Given the description of an element on the screen output the (x, y) to click on. 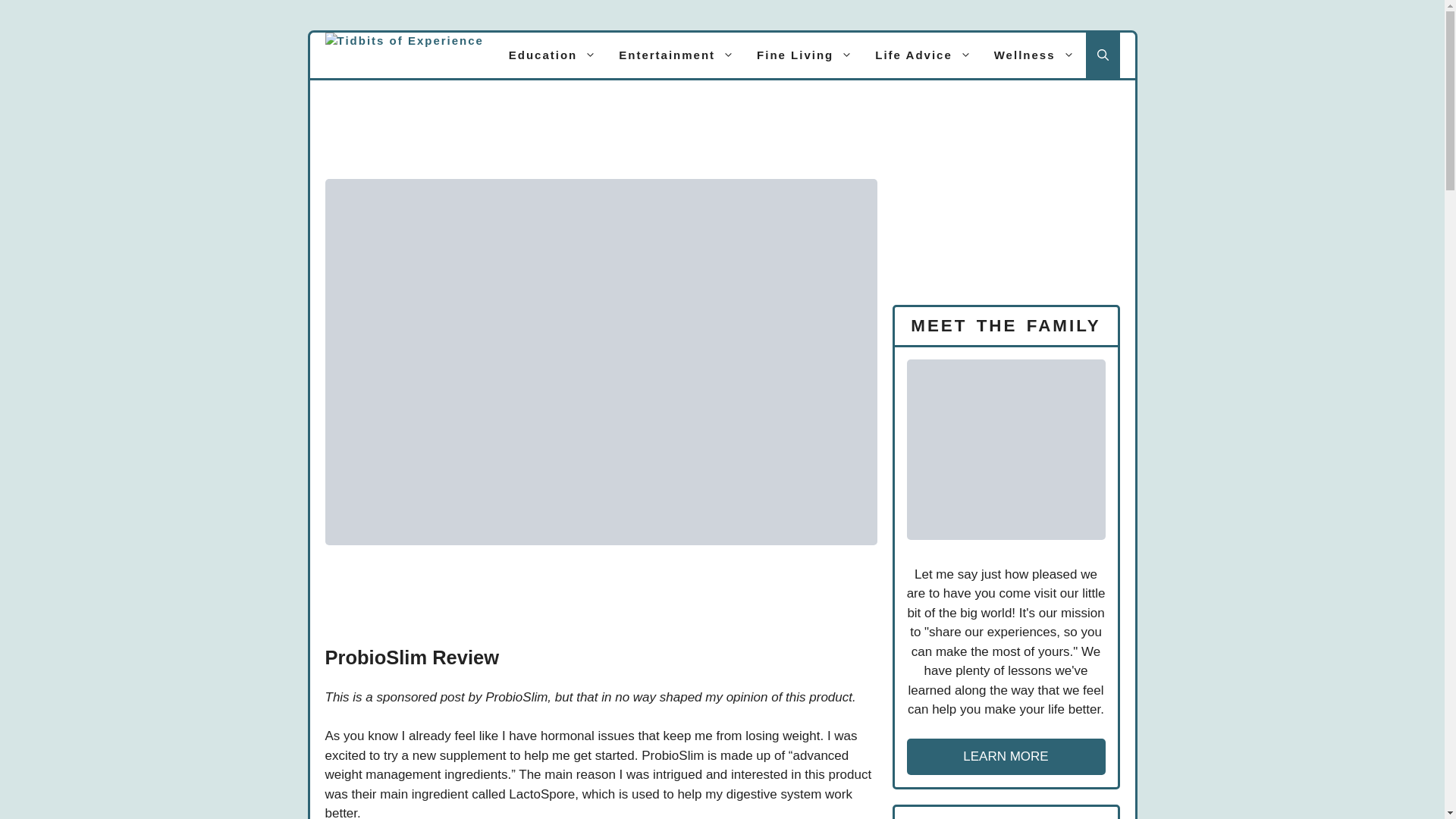
Fine Living (804, 54)
Education (552, 54)
Tidbits of Experience (403, 54)
Entertainment (676, 54)
